Given the description of an element on the screen output the (x, y) to click on. 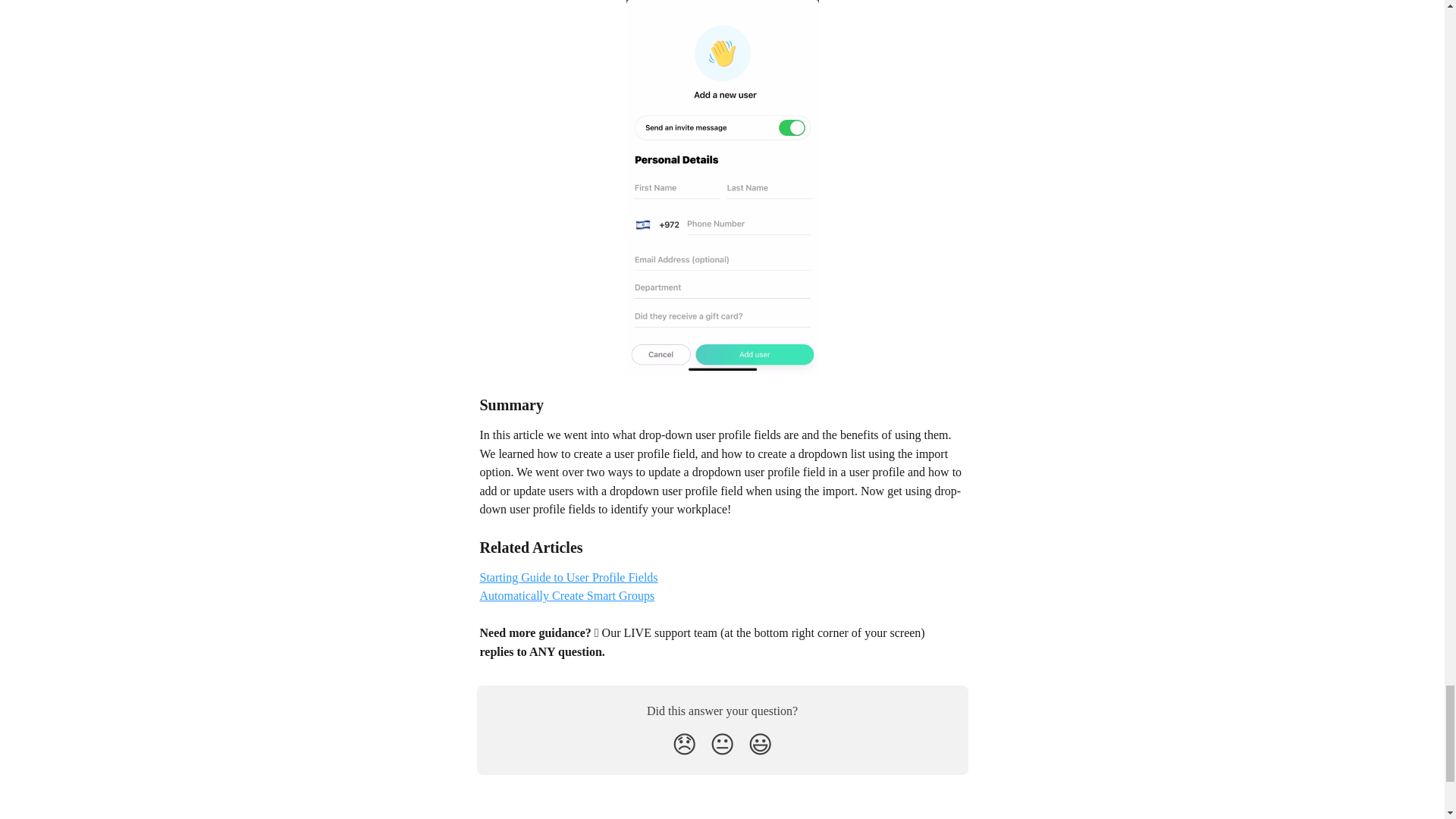
Starting Guide to User Profile Fields (568, 576)
Disappointed (684, 744)
Neutral (722, 744)
Automatically Create Smart Groups (566, 594)
Smiley (760, 744)
